Given the description of an element on the screen output the (x, y) to click on. 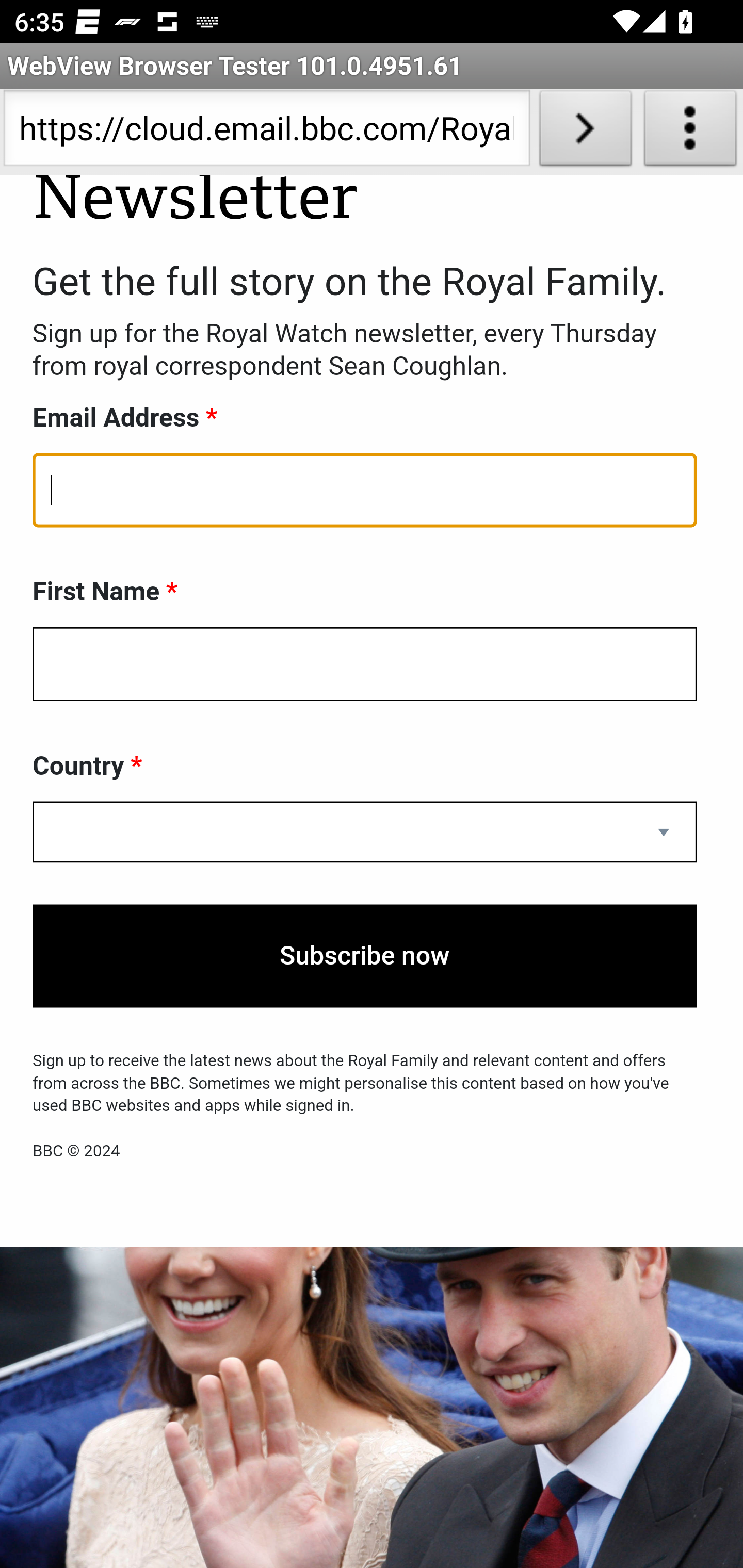
Load URL (585, 132)
About WebView (690, 132)
Subscribe now (364, 956)
